Given the description of an element on the screen output the (x, y) to click on. 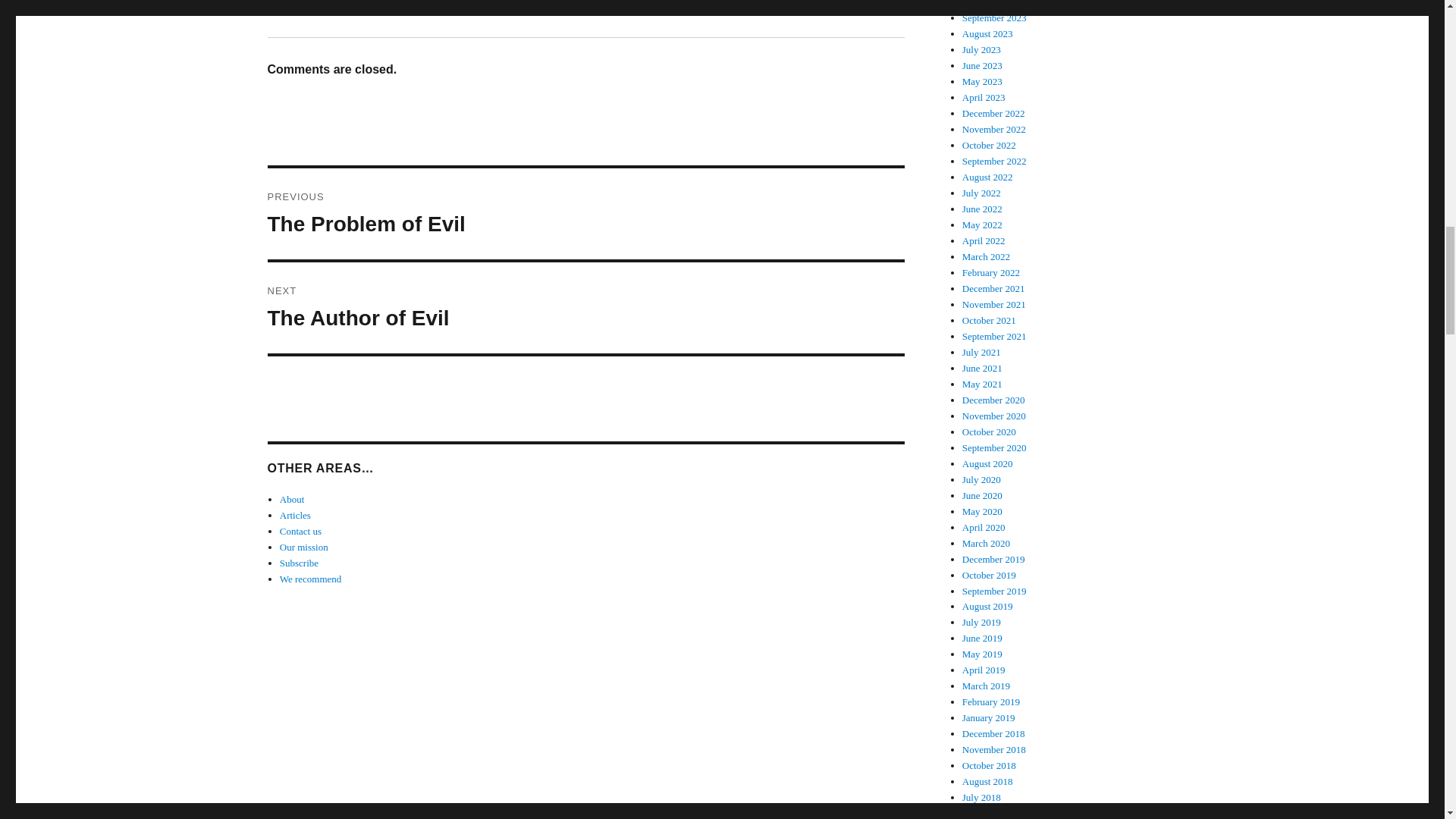
We recommend (310, 578)
Articles (295, 514)
Subscribe (298, 562)
Contact us (300, 531)
About (585, 213)
Our mission (291, 499)
